Given the description of an element on the screen output the (x, y) to click on. 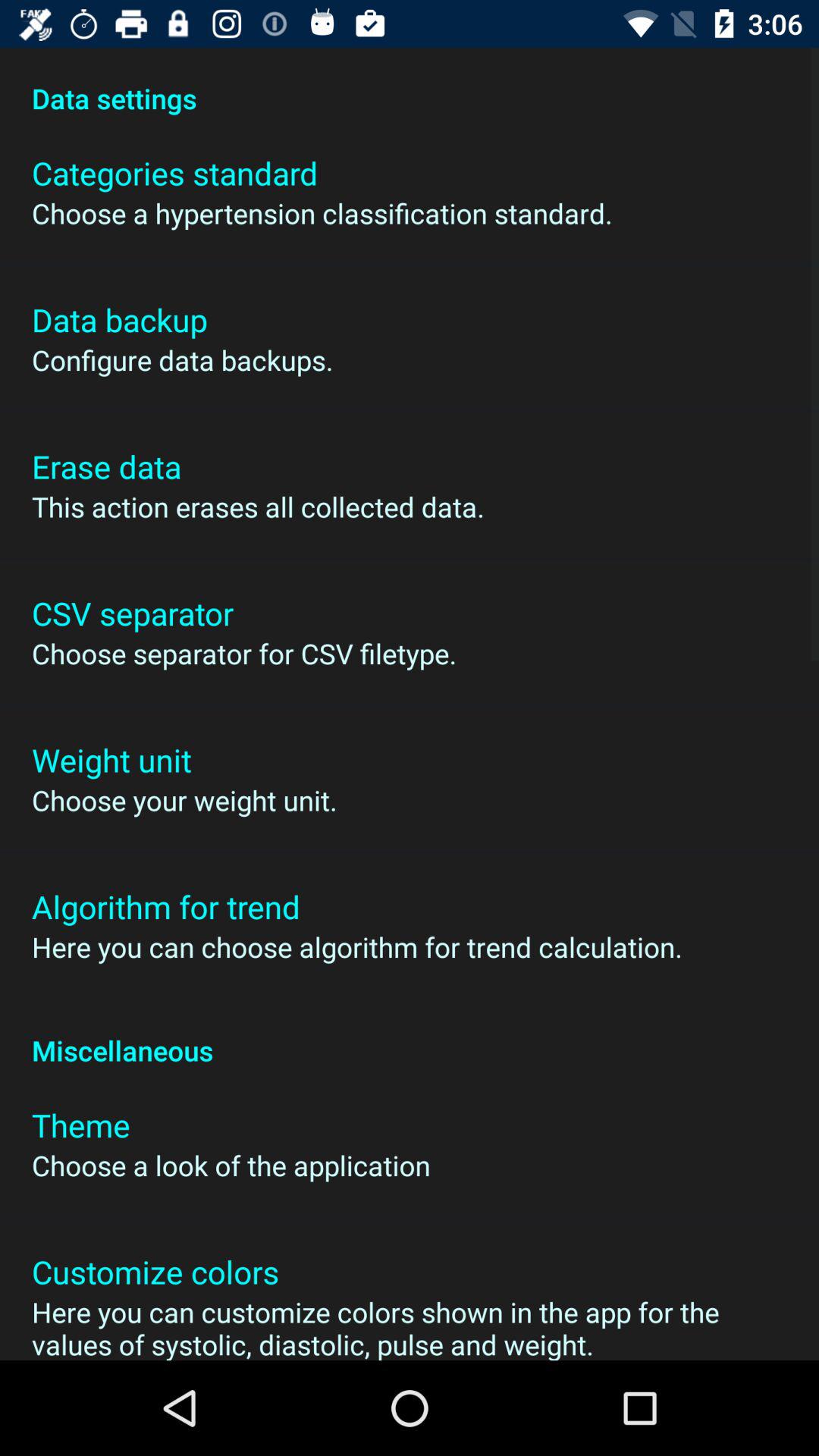
select the icon below data settings item (174, 172)
